Given the description of an element on the screen output the (x, y) to click on. 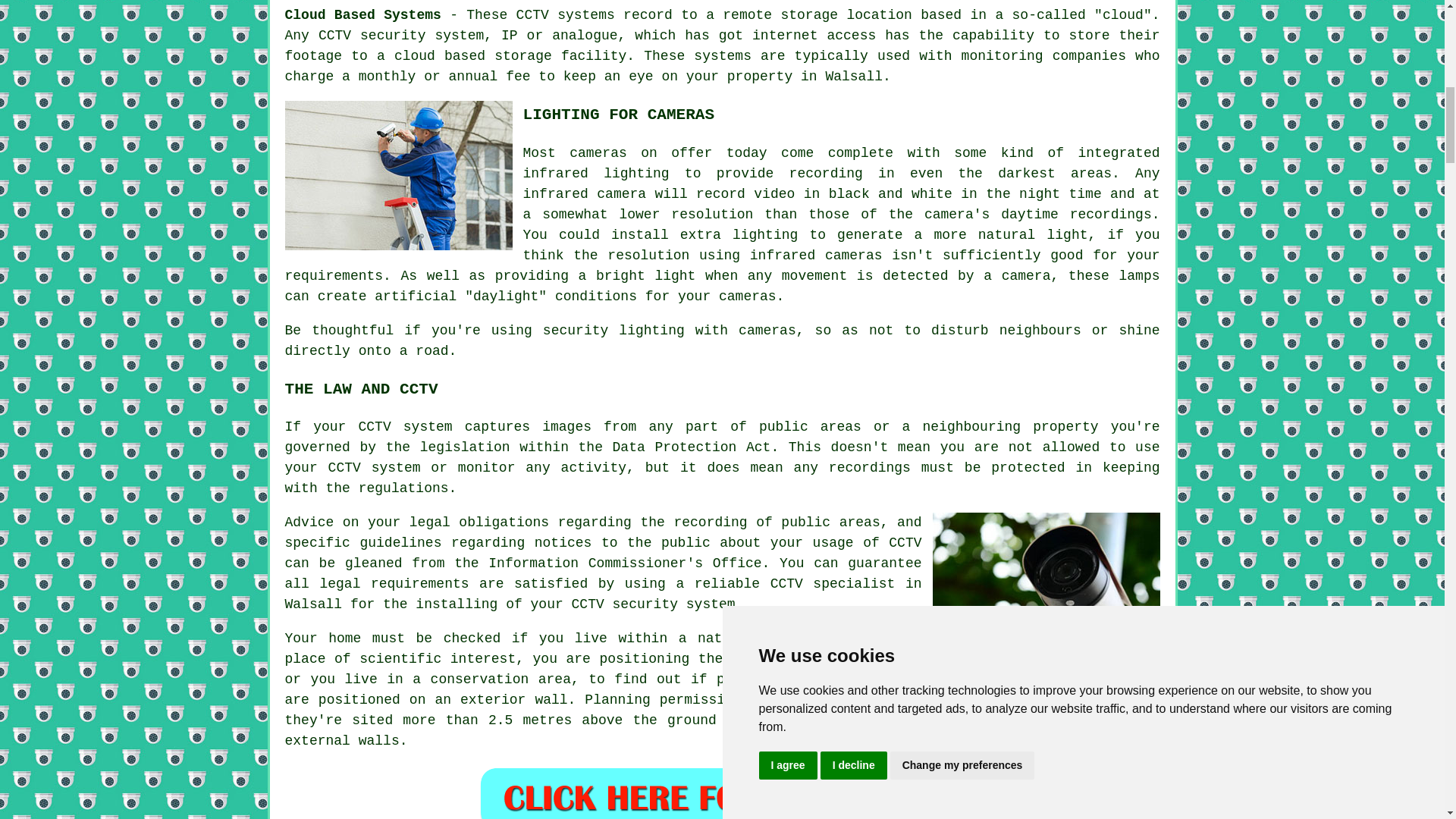
CCTV (1033, 679)
CCTV Installers Walsall (398, 175)
CCTV (334, 35)
Walsall CCTV Fitters (1046, 586)
CCTV system (374, 467)
CCTV Quotes Walsall West Midlands (722, 791)
CCTV (532, 14)
